Given the description of an element on the screen output the (x, y) to click on. 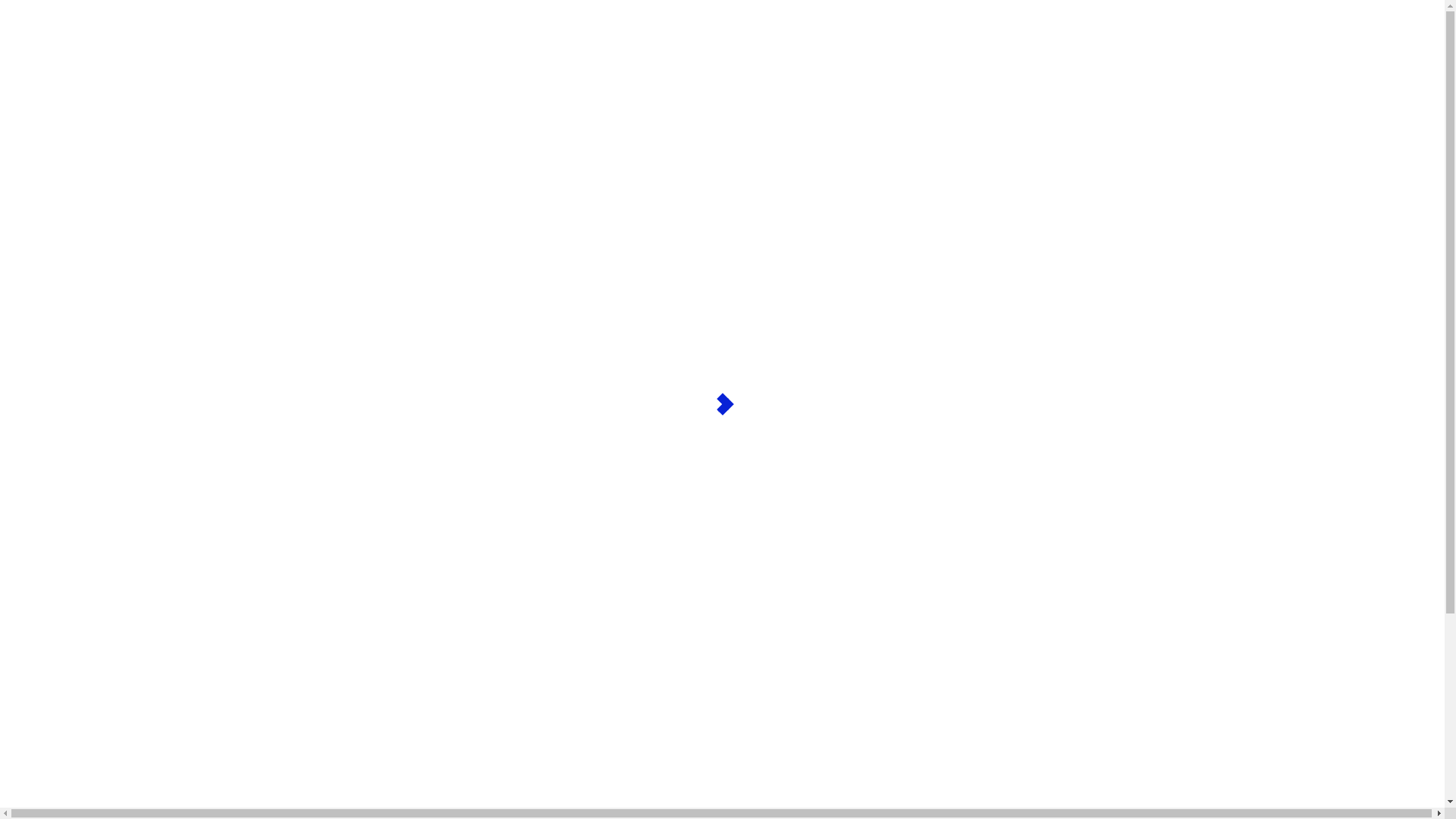
Contatto Element type: text (57, 119)
Offerte L Element type: text (58, 78)
corsi Element type: text (47, 212)
dove siamo Element type: text (63, 106)
Iscrizione ai corsi Element type: text (79, 239)
bettelini.ch Element type: text (105, 318)
Pregassona Element type: text (1064, 435)
Home Element type: text (50, 184)
Iscrizione ai corsi Element type: text (79, 92)
Taverne Element type: text (950, 435)
Home Element type: text (50, 37)
Offerte L Element type: text (58, 225)
cosa fare? Element type: text (60, 198)
Contatto Element type: text (57, 266)
Manno Element type: text (1002, 435)
All Element type: text (43, 493)
dove siamo Element type: text (63, 253)
cosa fare? Element type: text (60, 51)
corsi Element type: text (47, 65)
